Given the description of an element on the screen output the (x, y) to click on. 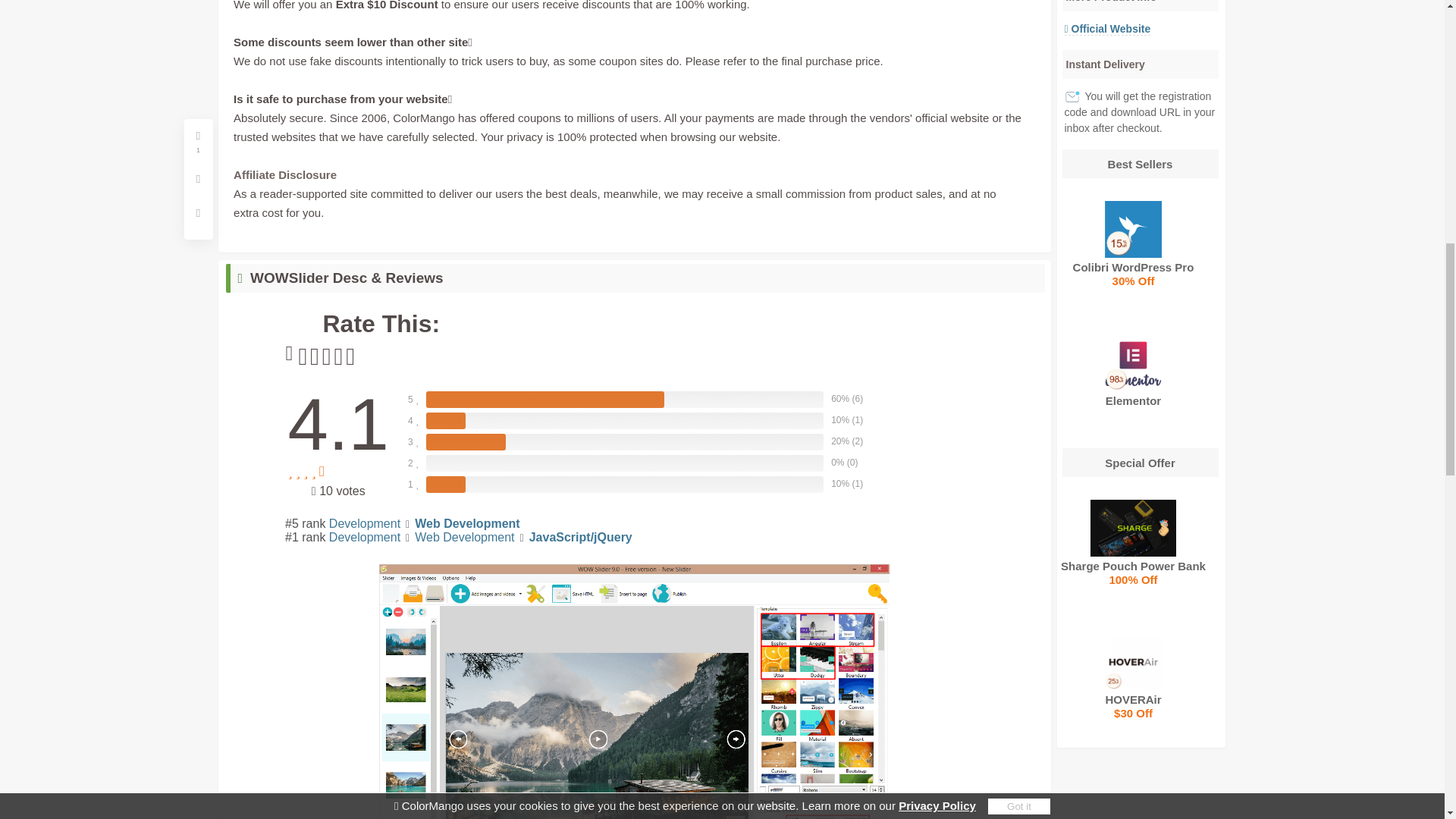
Web Development Best Sellers (1140, 164)
